Given the description of an element on the screen output the (x, y) to click on. 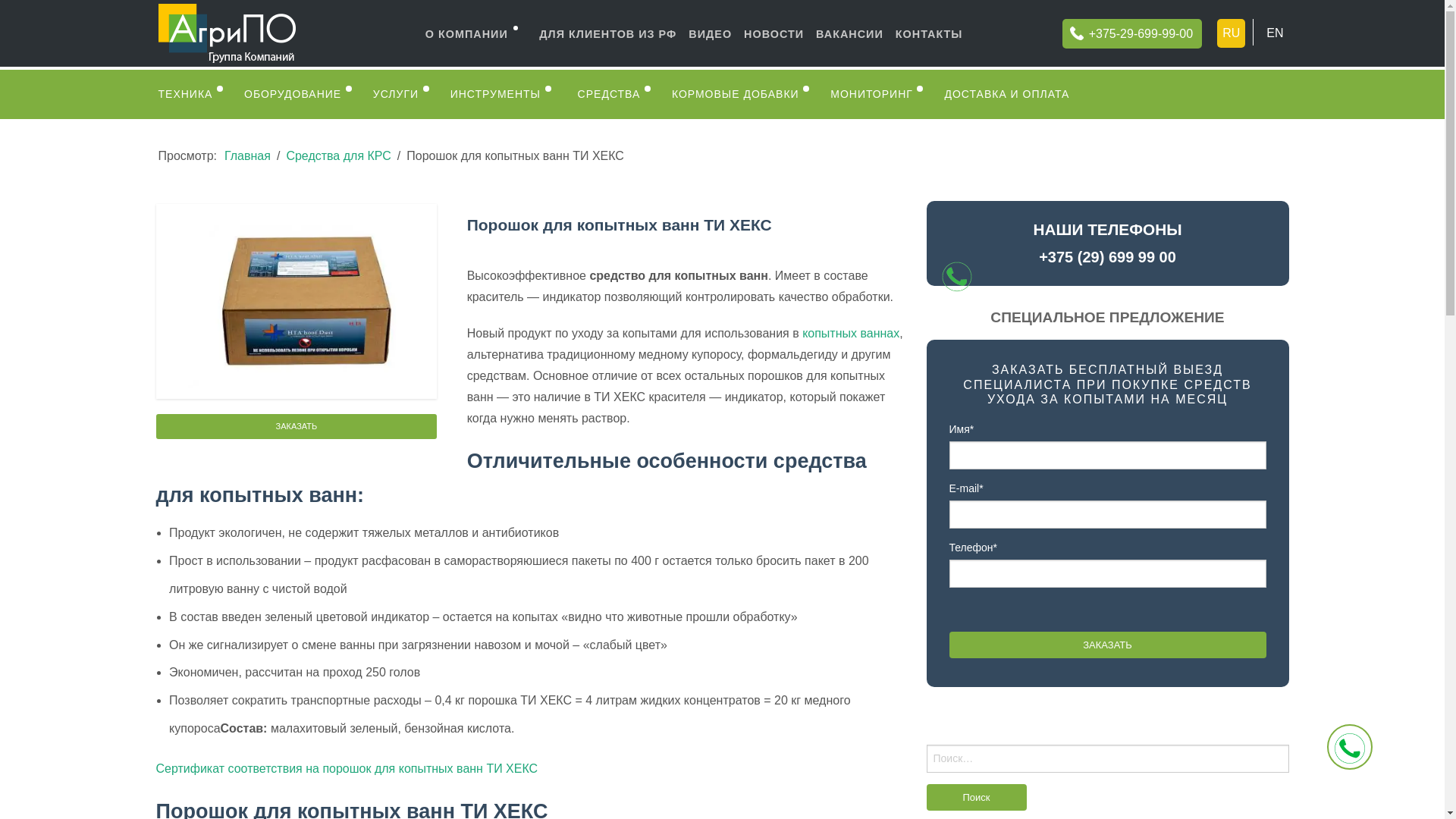
SMAXTEC BASIC Element type: text (876, 162)
RU Element type: text (1230, 32)
EN Element type: text (1274, 32)
+375 (29) 699 99 00 Element type: text (1107, 256)
SMAXTEC PREMIUM Element type: text (876, 196)
